Given the description of an element on the screen output the (x, y) to click on. 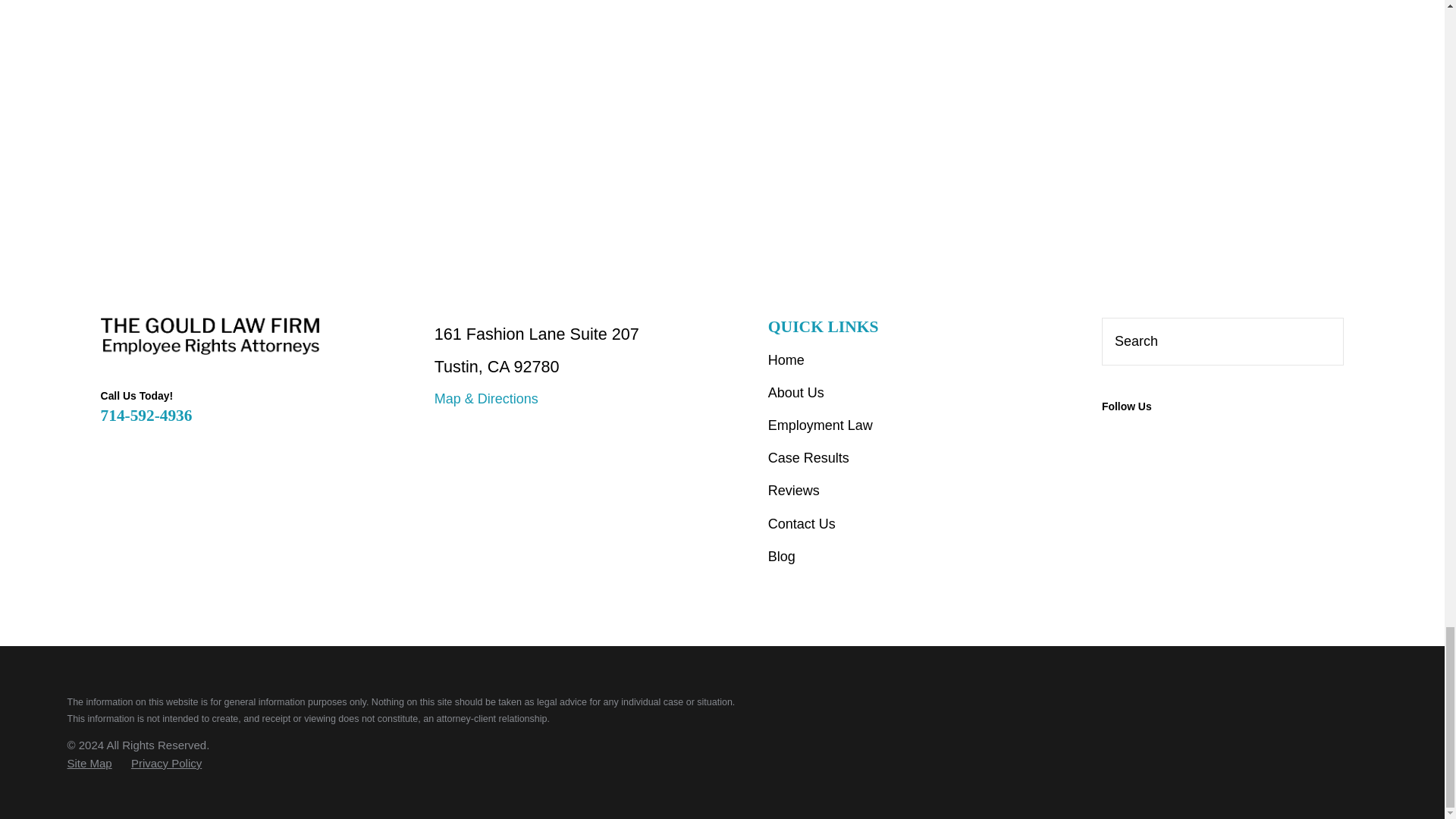
Home (209, 335)
Google Business Profile (1111, 437)
Search Our Site (1323, 341)
Yelp (1153, 437)
